Given the description of an element on the screen output the (x, y) to click on. 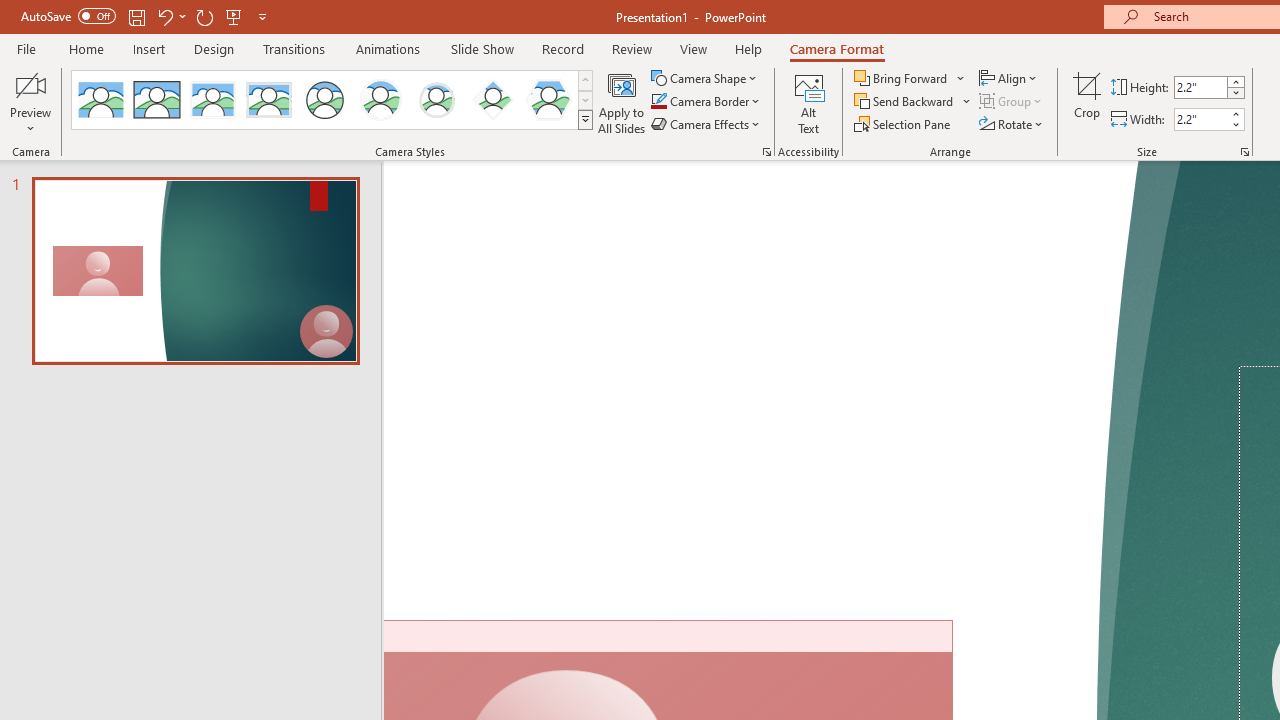
Simple Frame Circle (324, 100)
